Given the description of an element on the screen output the (x, y) to click on. 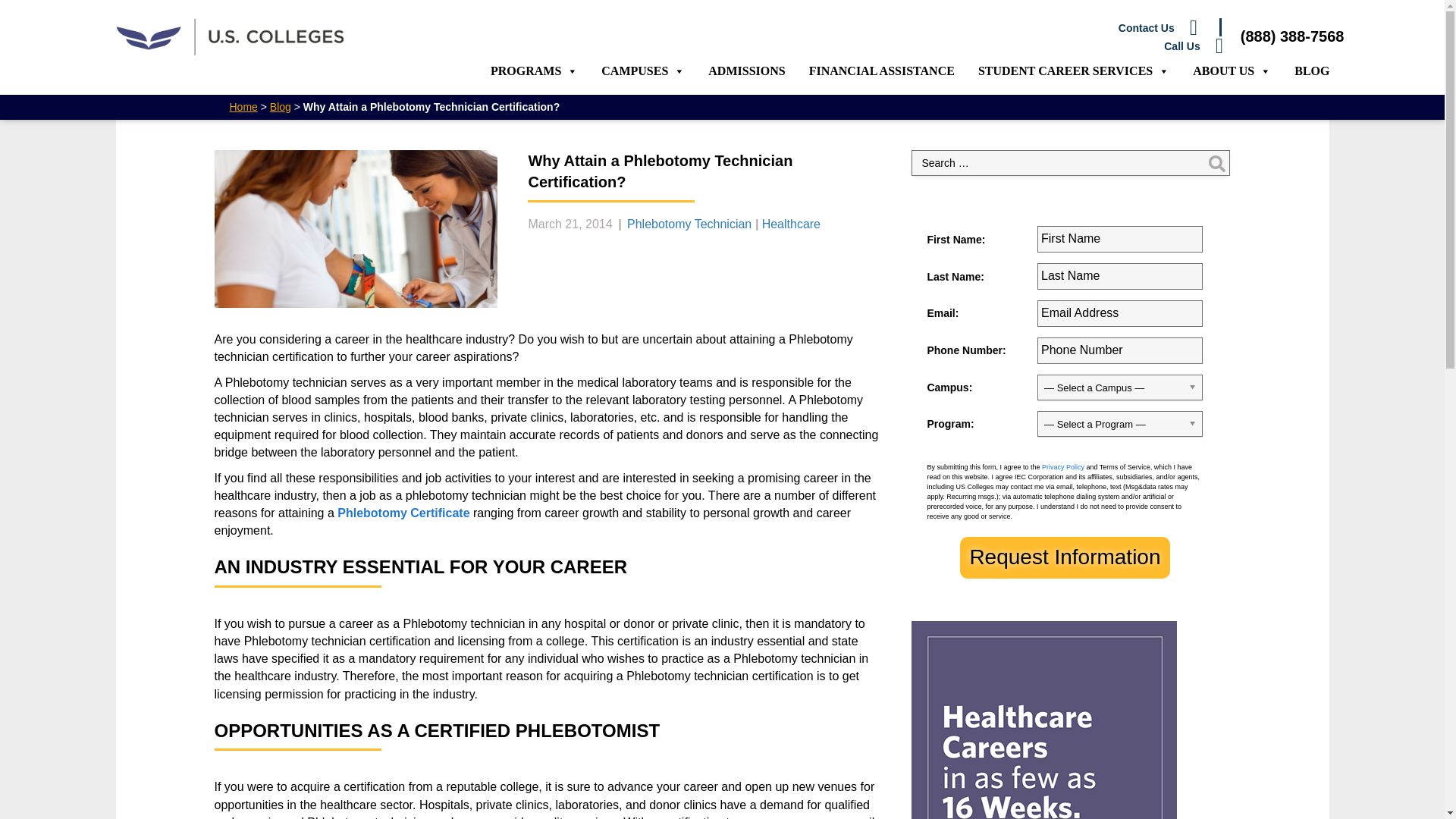
Contact Us (789, 28)
FINANCIAL ASSISTANCE (881, 71)
Why Attain a Phlebotomy Technician Certification (355, 228)
Phlebotomy Certificate (402, 512)
U.S. Colleges (228, 36)
Healthcare (791, 223)
Type and press Enter to search. (1070, 162)
PROGRAMS (533, 71)
ABOUT US (1231, 71)
STUDENT CAREER SERVICES (1073, 71)
Phlebotomy Technician (689, 223)
Call Us (801, 46)
Home (242, 106)
Request Information (1064, 557)
Blog (280, 106)
